Given the description of an element on the screen output the (x, y) to click on. 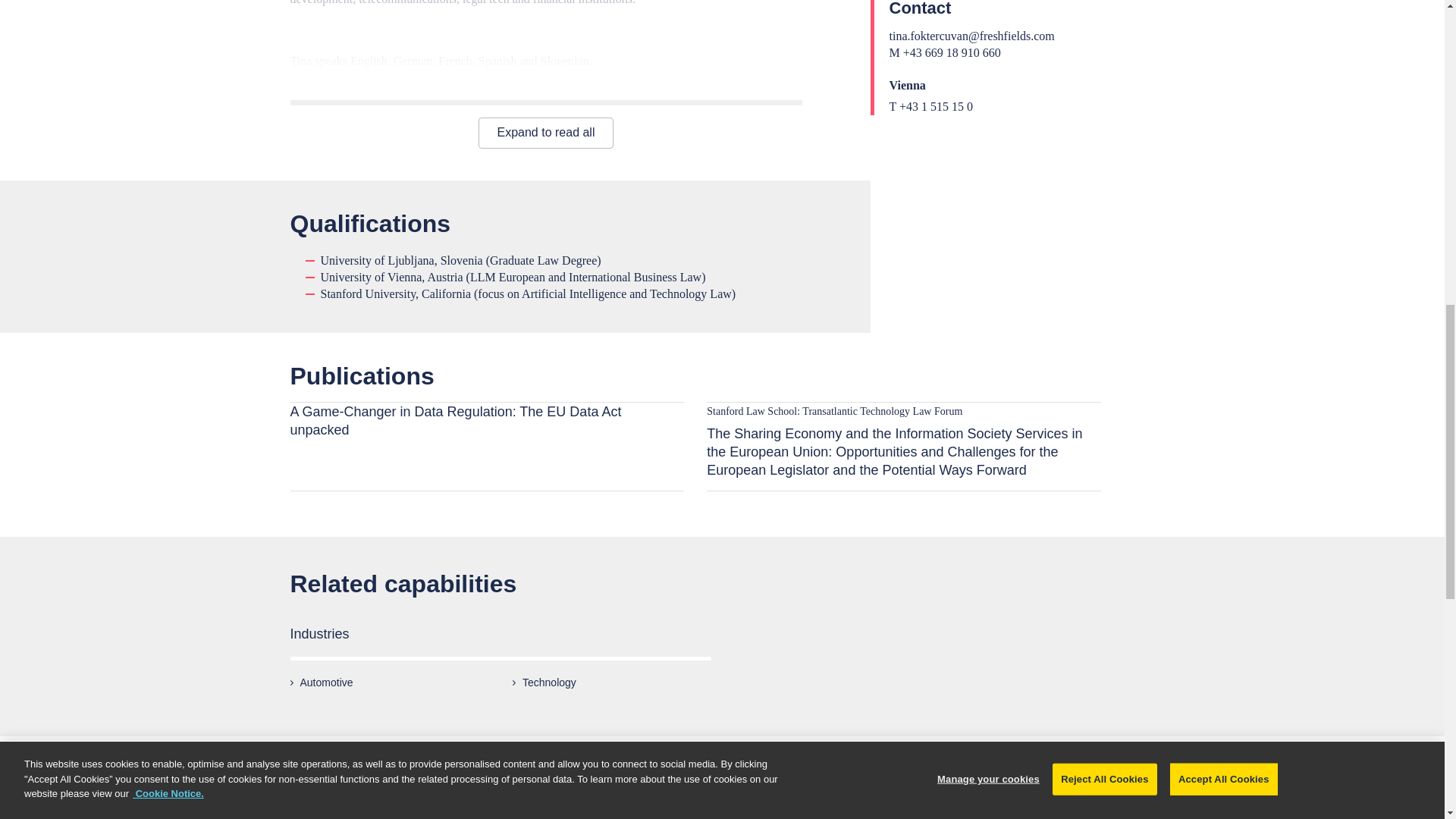
Mobile Number (895, 51)
Opens a new window (486, 420)
Opens a new window (903, 440)
Mobile Number (740, 806)
